Given the description of an element on the screen output the (x, y) to click on. 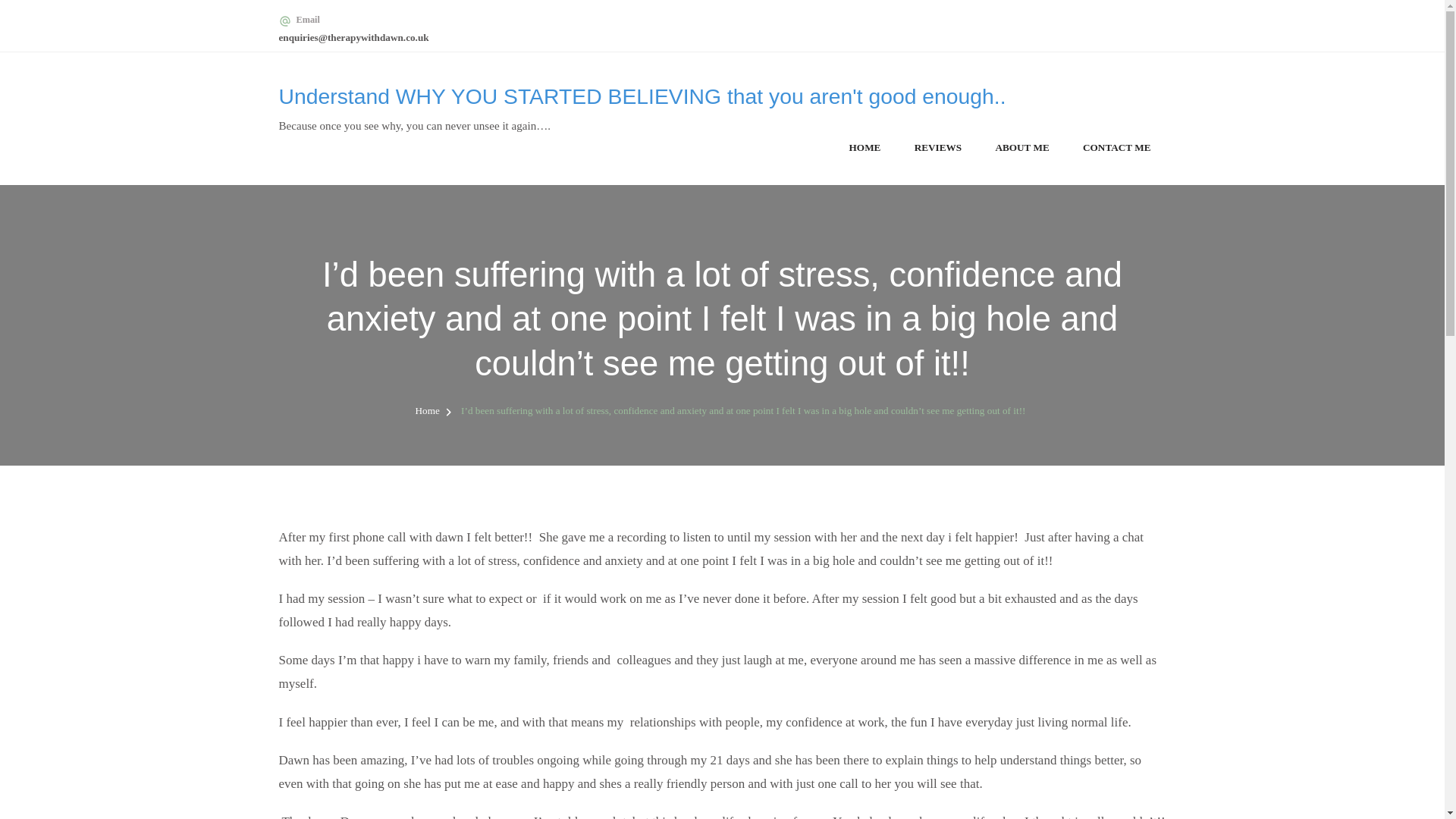
REVIEWS (937, 148)
ABOUT ME (1021, 148)
HOME (864, 148)
CONTACT ME (1116, 148)
Home (426, 410)
